Given the description of an element on the screen output the (x, y) to click on. 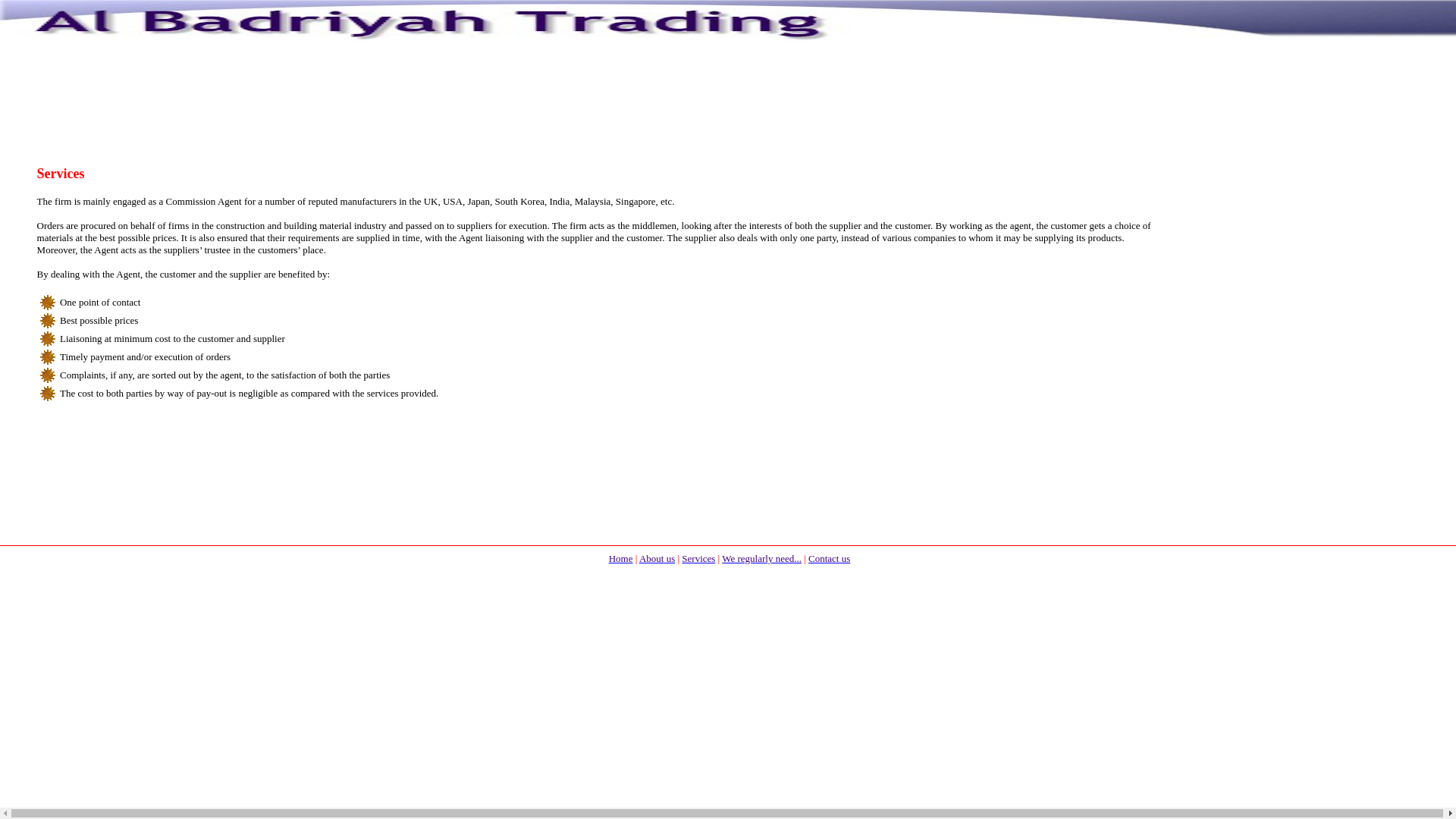
Contact us (829, 557)
Advertisement (729, 626)
We regularly need... (762, 557)
Home (620, 557)
Services (697, 557)
About us (657, 557)
